Given the description of an element on the screen output the (x, y) to click on. 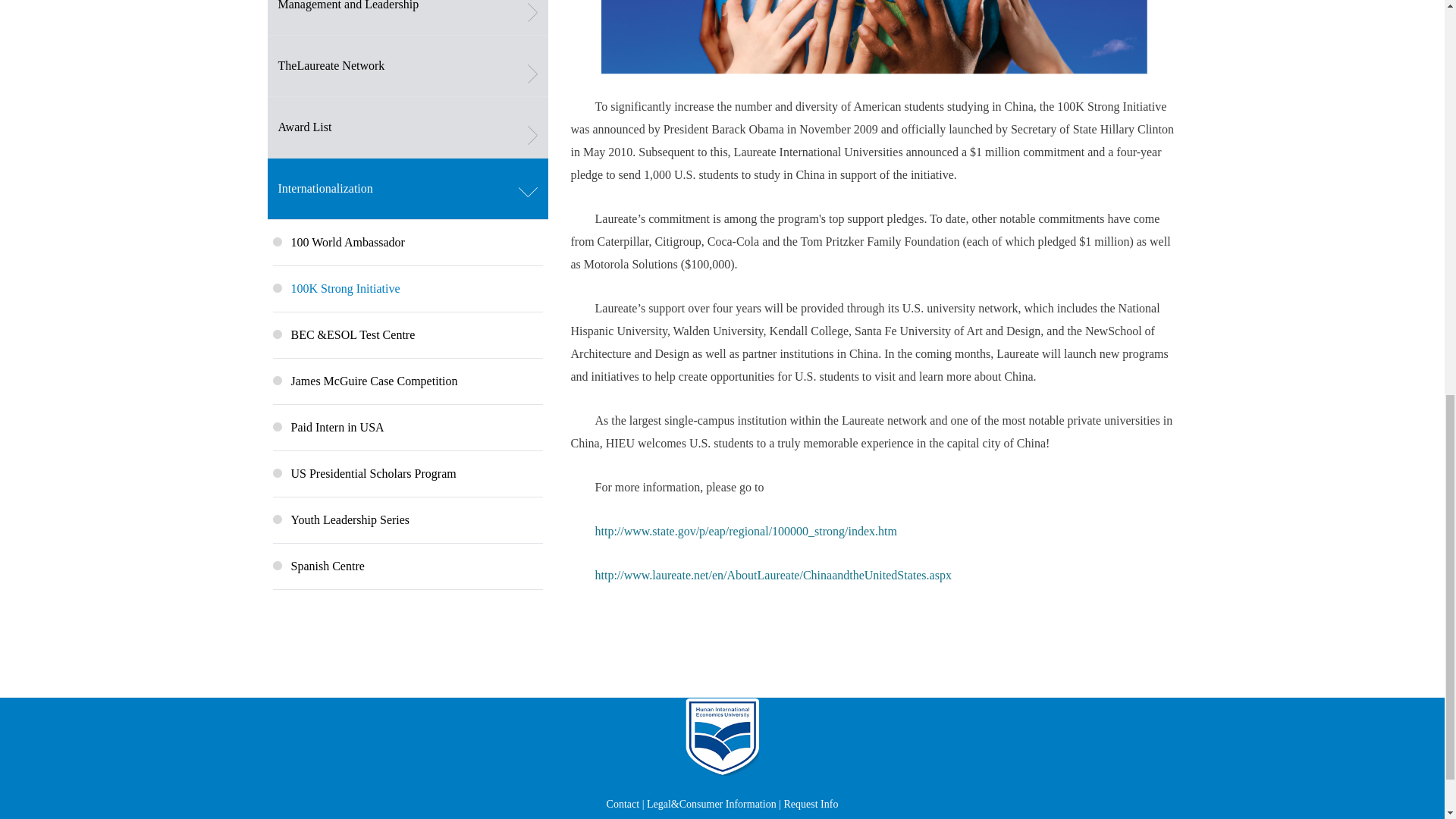
100 World Ambassador (408, 243)
Management and Leadership (406, 18)
Request Info (810, 803)
Contact (623, 803)
James McGuire Case Competition (408, 381)
100K Strong Initiative (408, 289)
Internationalization (406, 189)
Youth Leadership Series (408, 520)
TheLaureate Network (406, 66)
Award List (406, 127)
US Presidential Scholars Program (408, 474)
Paid Intern in USA (408, 427)
Spanish Centre (408, 566)
